Given the description of an element on the screen output the (x, y) to click on. 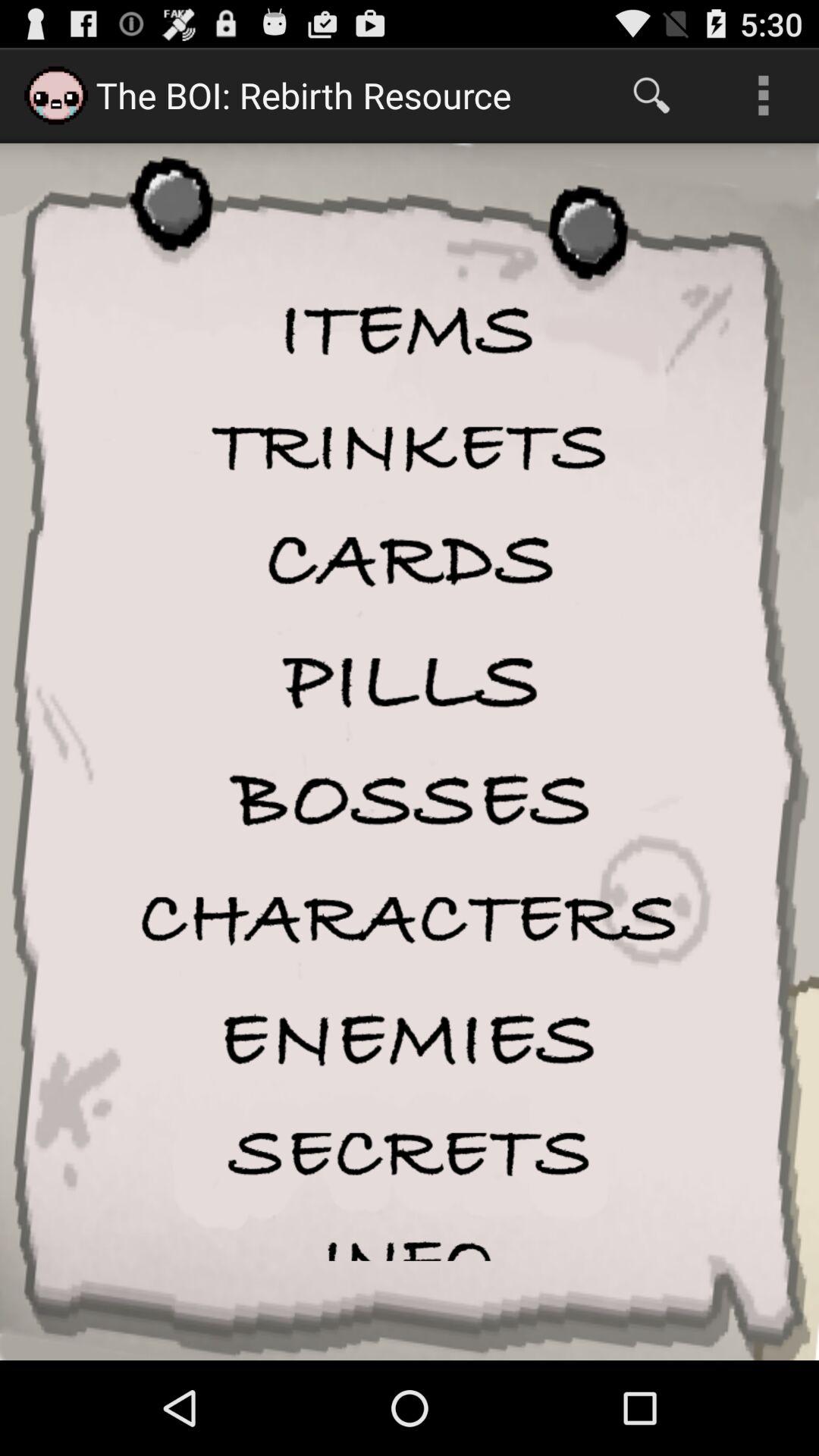
go to items (409, 332)
